Given the description of an element on the screen output the (x, y) to click on. 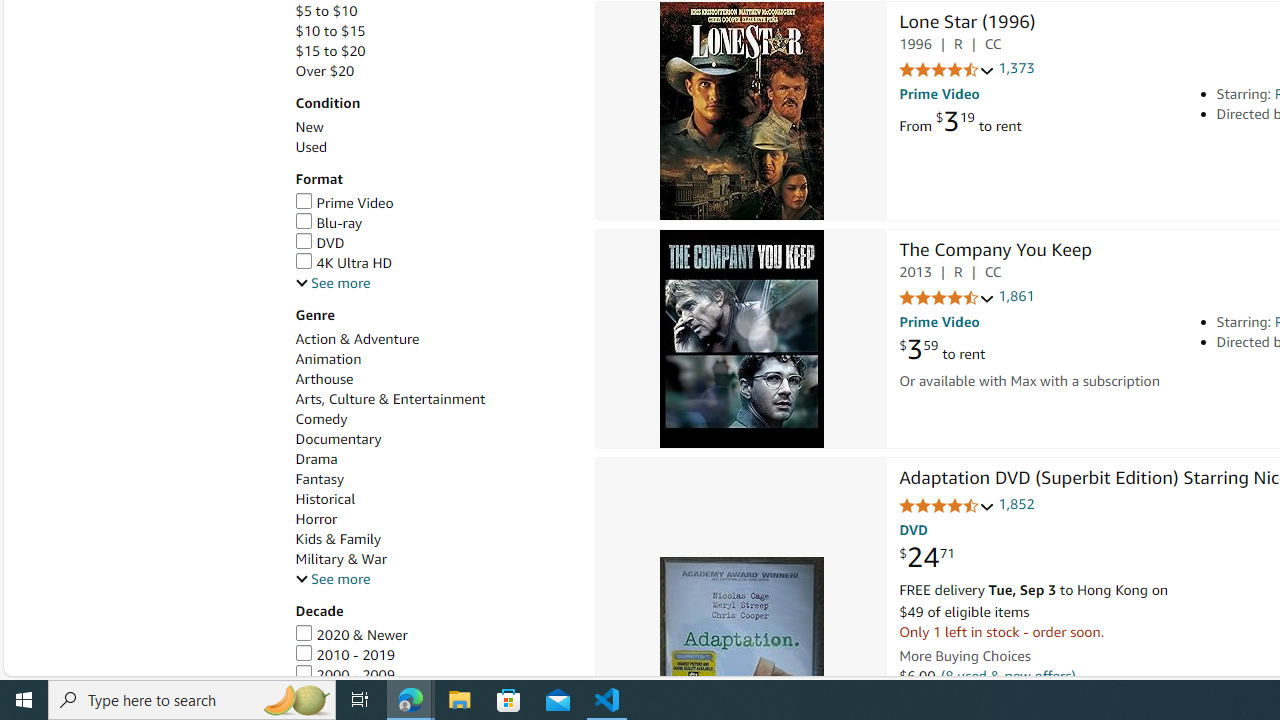
Prime Video (434, 203)
DVD (434, 242)
Horror (434, 519)
Fantasy (319, 479)
Used (434, 147)
Action & Adventure (434, 339)
Lone Star (1996) (966, 23)
$10 to $15 (330, 31)
2010 - 2019 (434, 655)
